Given the description of an element on the screen output the (x, y) to click on. 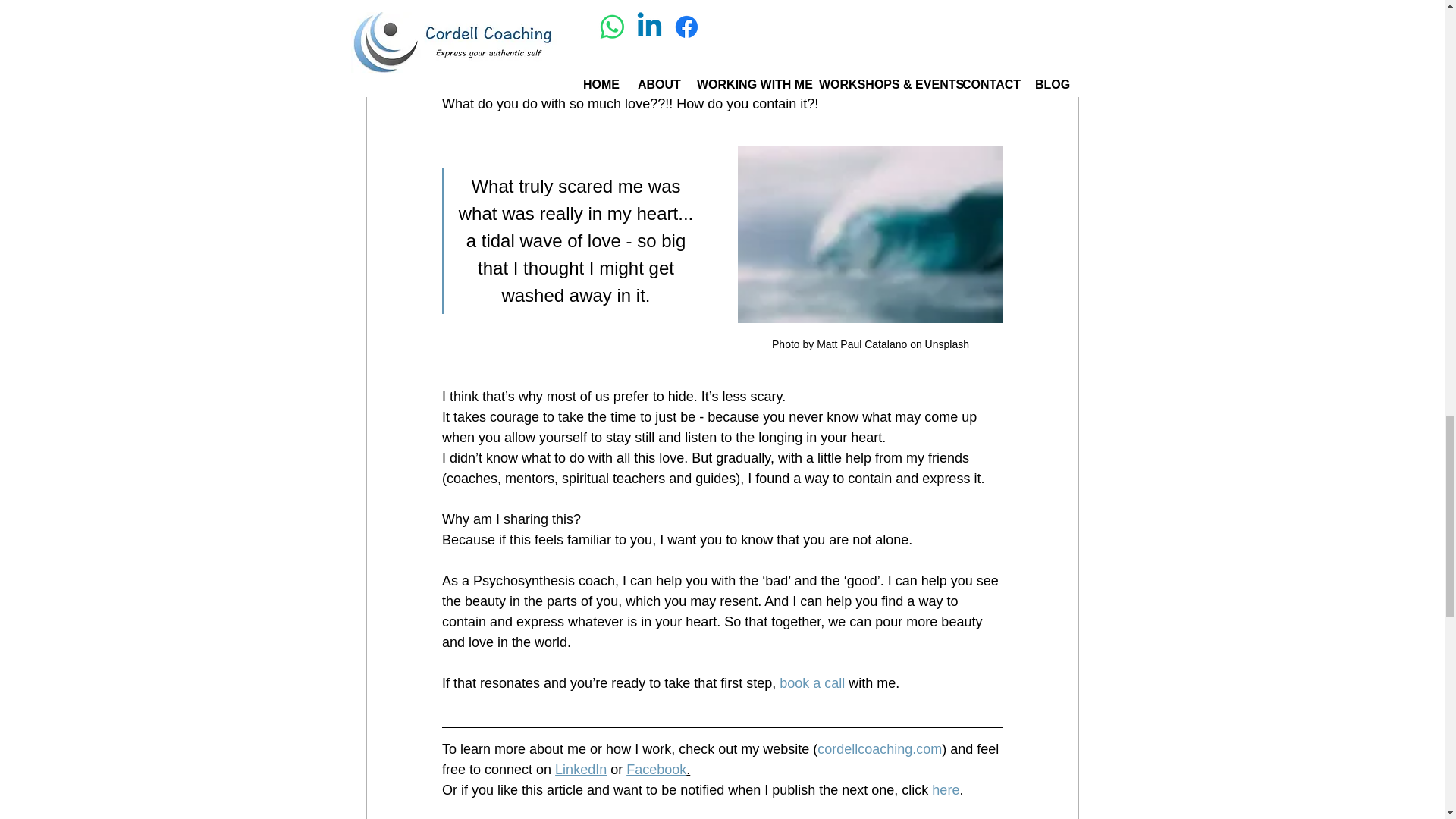
Facebook (655, 769)
cordellcoaching.com (879, 749)
book a call (811, 683)
LinkedIn (580, 769)
here (945, 789)
